Given the description of an element on the screen output the (x, y) to click on. 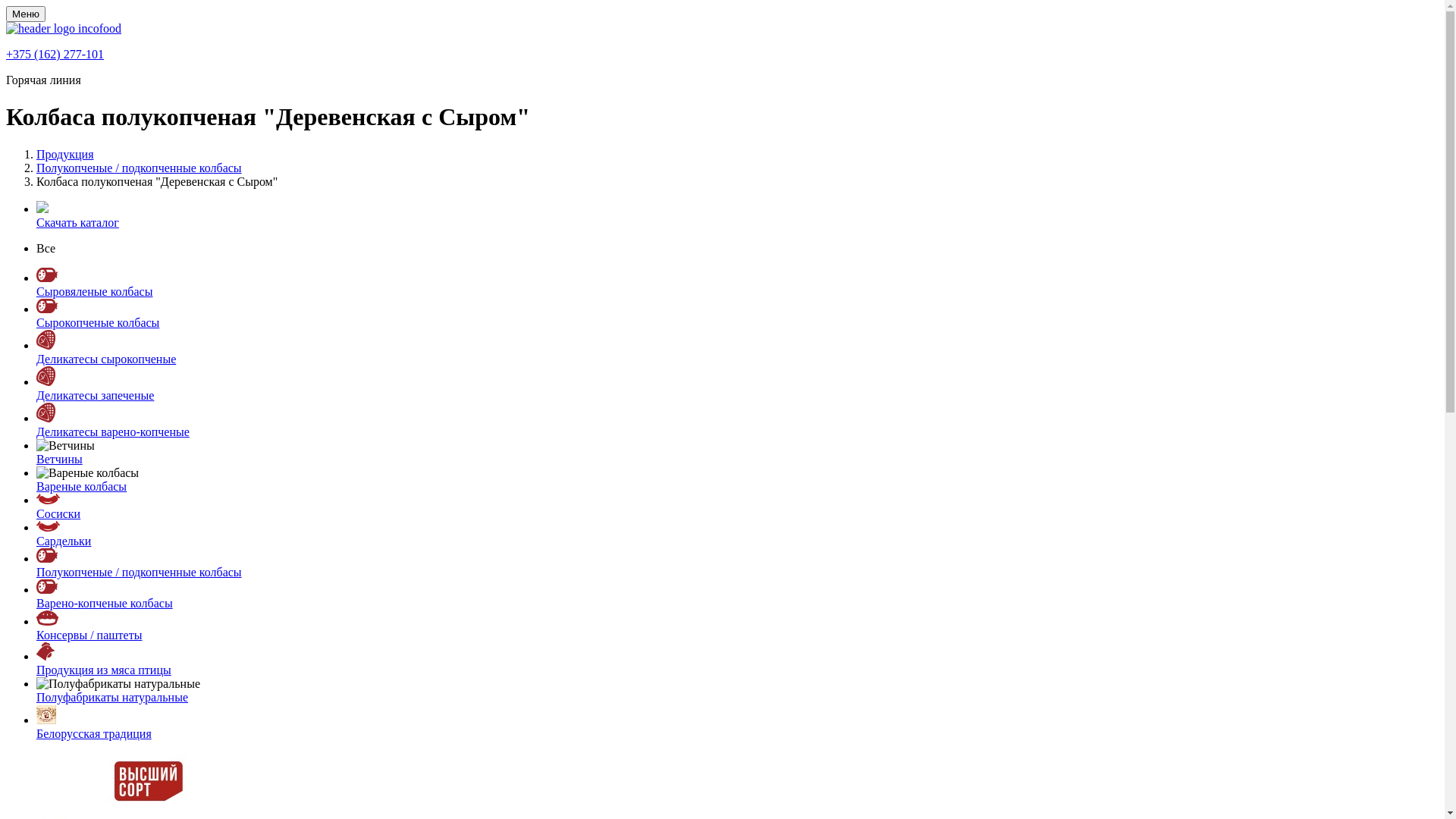
+375 (162) 277-101 Element type: text (54, 53)
header logo Element type: hover (63, 27)
